Given the description of an element on the screen output the (x, y) to click on. 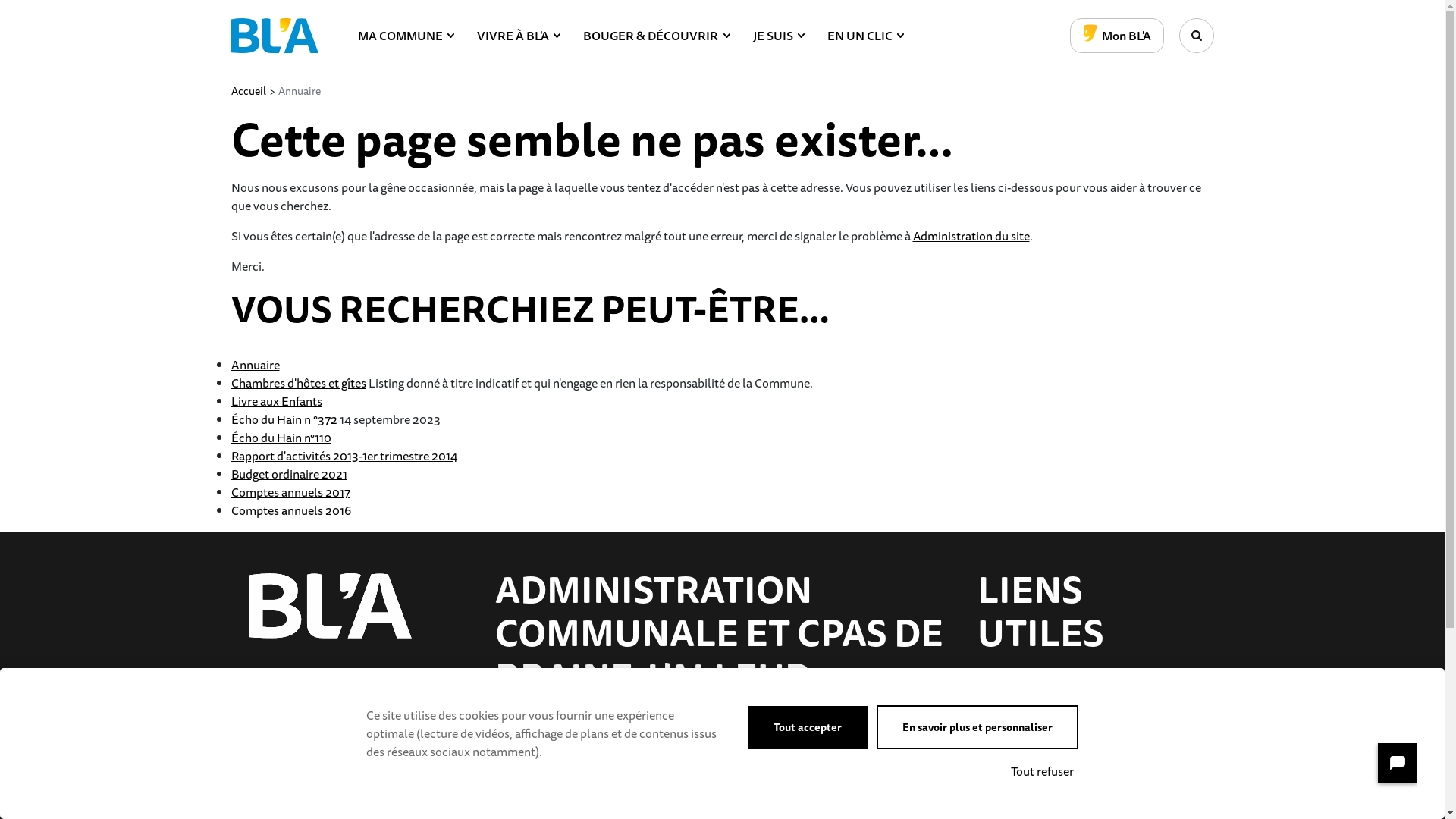
Tout refuser Element type: text (1042, 771)
JE SUIS Element type: text (778, 35)
EN UN CLIC Element type: text (865, 35)
secretariat@braine-lalleud.be Element type: text (573, 780)
Mon BL'A Element type: text (1116, 35)
Annuaire Element type: text (254, 364)
Budget ordinaire 2021 Element type: text (288, 473)
Comptes annuels 2016 Element type: text (290, 510)
Horaires et rendez-vous Element type: text (1085, 709)
MA COMMUNE Element type: text (405, 35)
braine-lalleud Element type: hover (1388, 771)
En savoir plus et personnaliser Element type: text (977, 727)
+3228540000 Element type: text (533, 759)
Comptes annuels 2017 Element type: text (289, 492)
Livre aux Enfants Element type: text (275, 401)
Accueil Element type: text (247, 90)
Administration du site Element type: text (971, 235)
E-guichet Element type: text (1085, 752)
Tout accepter Element type: text (807, 727)
Rechercher Element type: text (1195, 35)
